Given the description of an element on the screen output the (x, y) to click on. 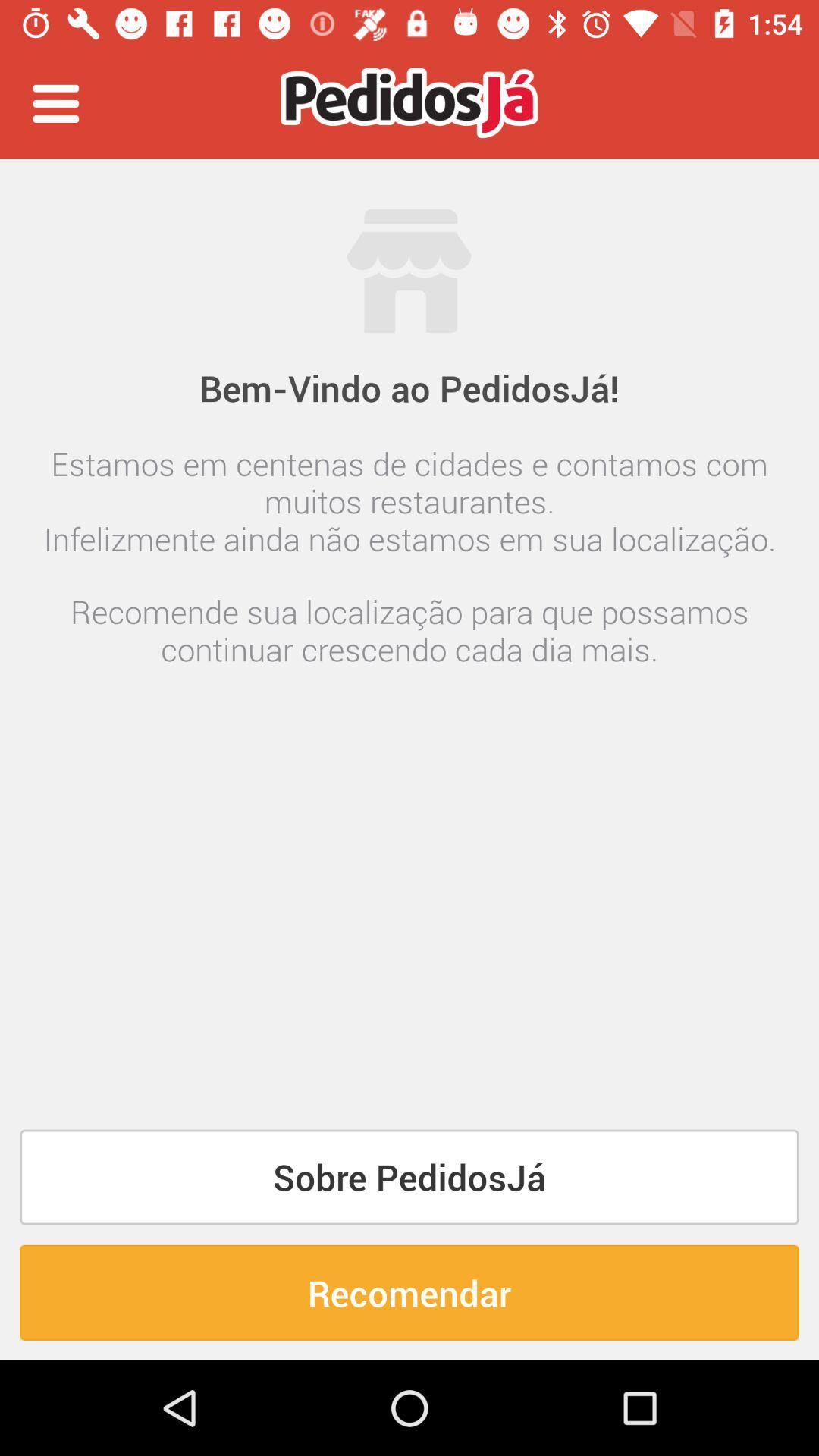
open options (55, 103)
